Given the description of an element on the screen output the (x, y) to click on. 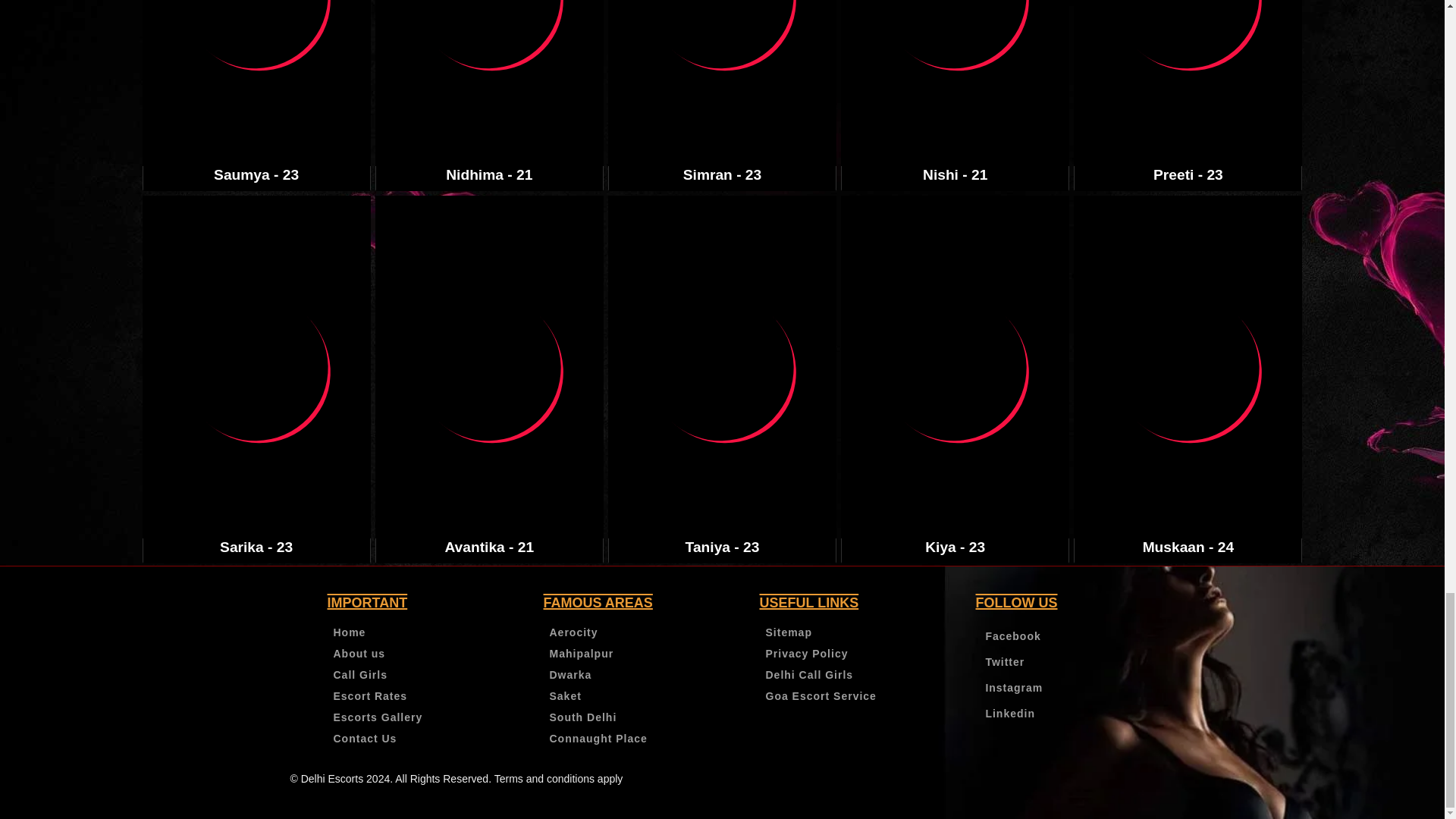
Contact Us (364, 738)
Delhi Call Girls (810, 674)
Call Girls (359, 674)
Privacy Policy (807, 653)
Escort Rates (370, 695)
Mahipalpur (580, 653)
Goa Escort Service (820, 695)
Home (349, 631)
Sitemap (788, 631)
Saket (564, 695)
